Given the description of an element on the screen output the (x, y) to click on. 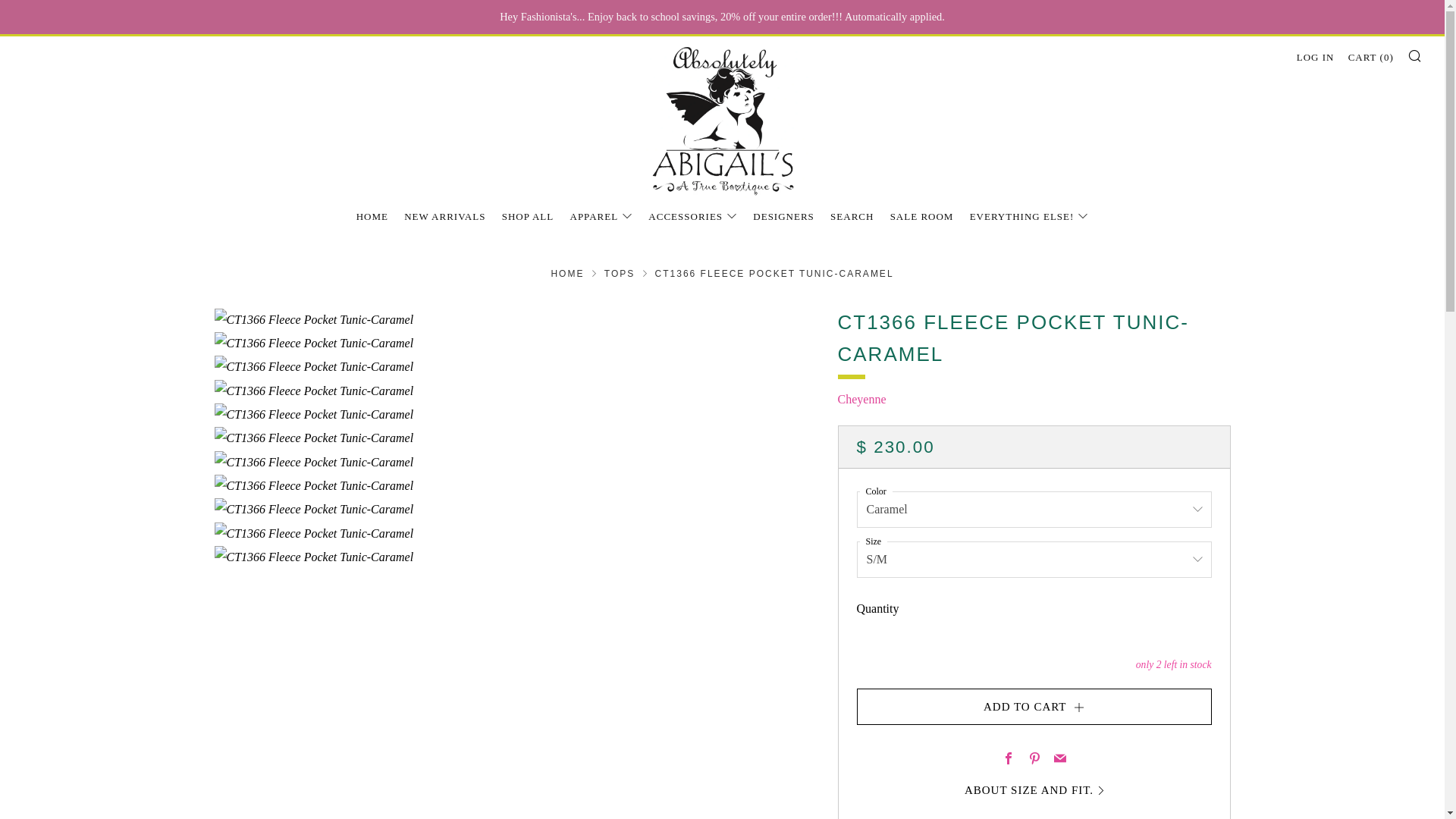
NEW ARRIVALS (444, 216)
HOME (372, 216)
Cheyenne (861, 399)
Home (566, 273)
